Given the description of an element on the screen output the (x, y) to click on. 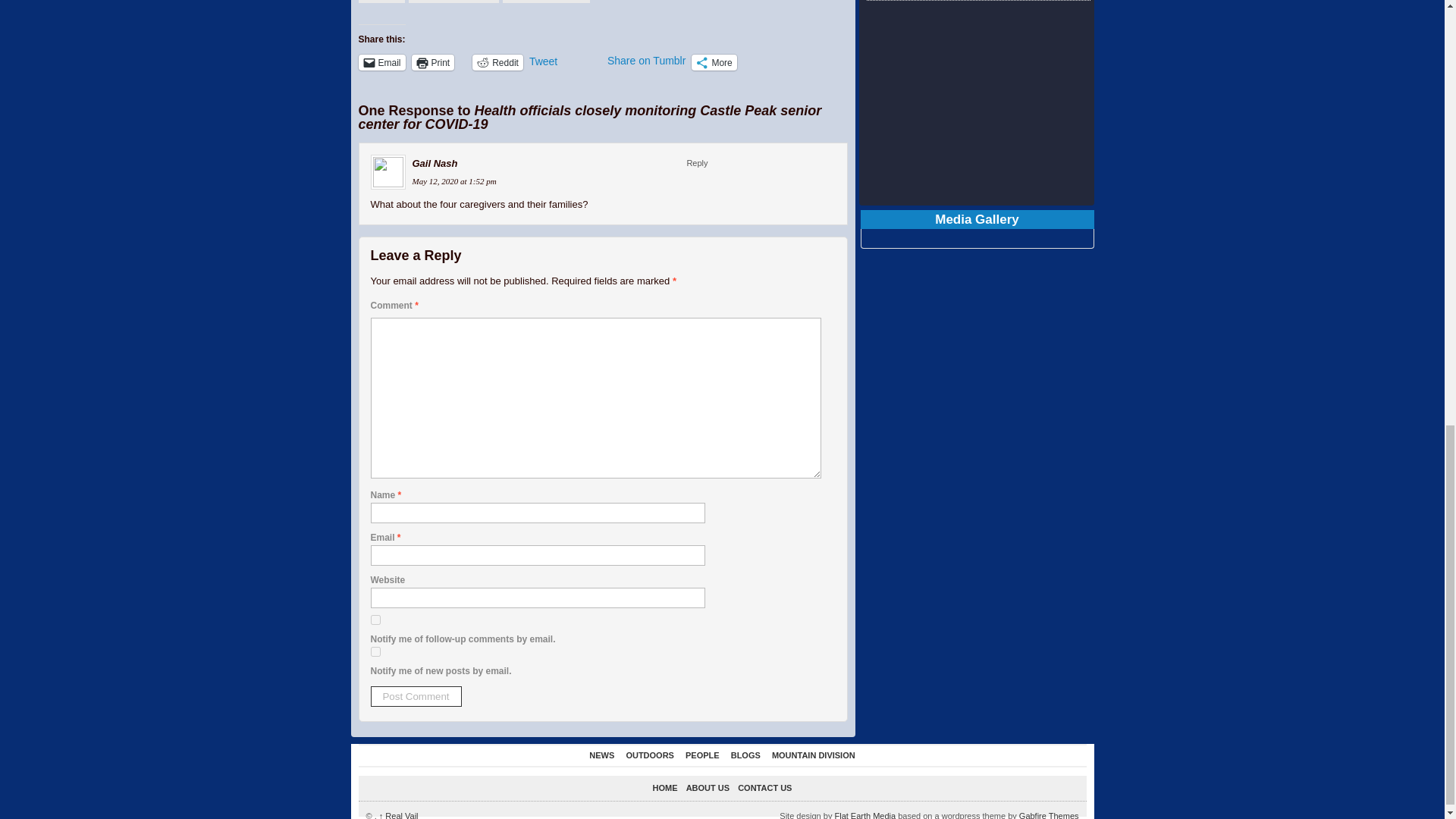
Reply (696, 162)
Share on Tumblr (646, 60)
Bio (381, 1)
Post Comment (415, 696)
More (713, 62)
Reddit (496, 62)
Email (381, 62)
Click to share on Reddit (496, 62)
subscribe (374, 651)
Click to print (433, 62)
